Given the description of an element on the screen output the (x, y) to click on. 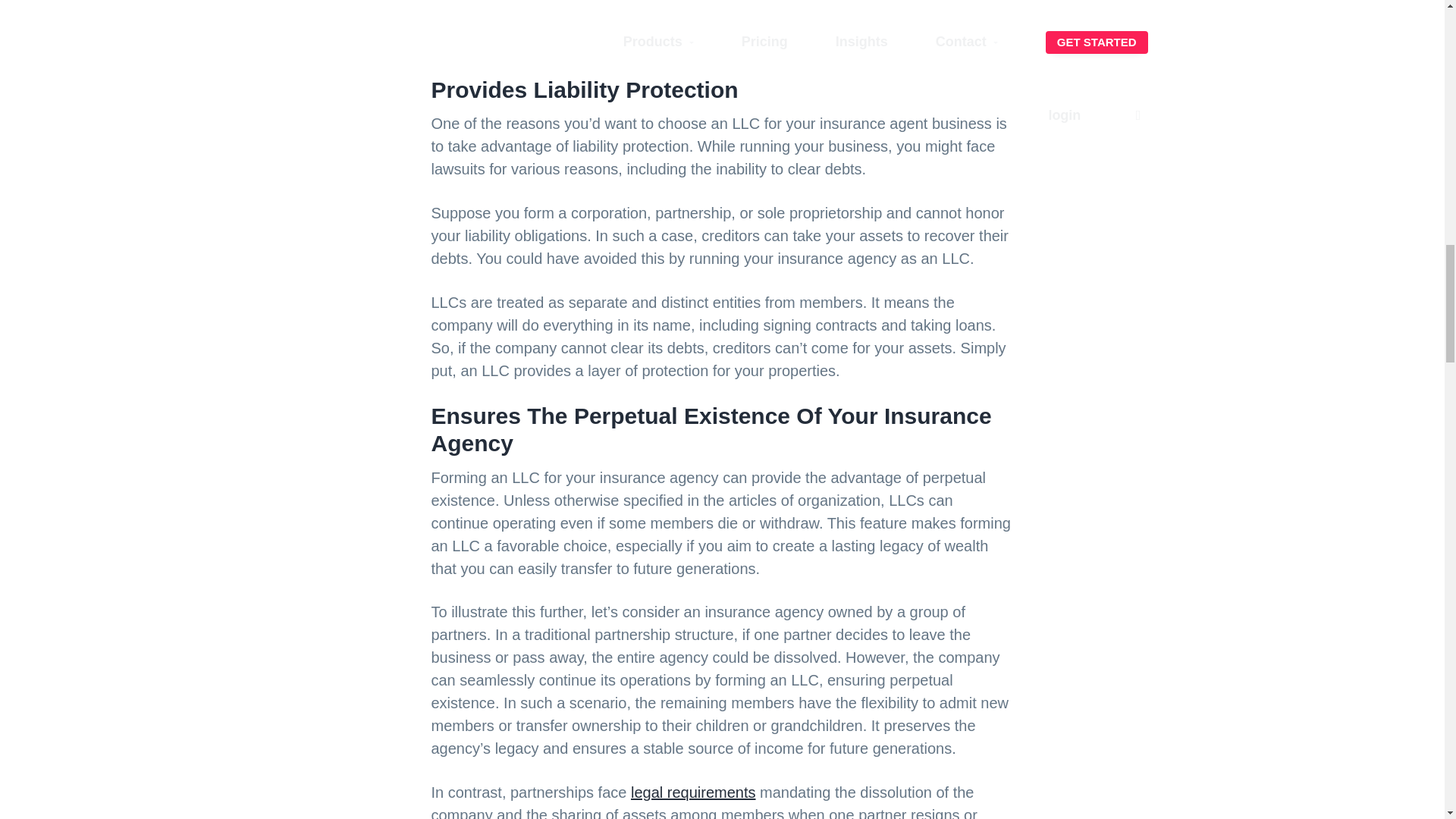
legal requirements (692, 791)
